Given the description of an element on the screen output the (x, y) to click on. 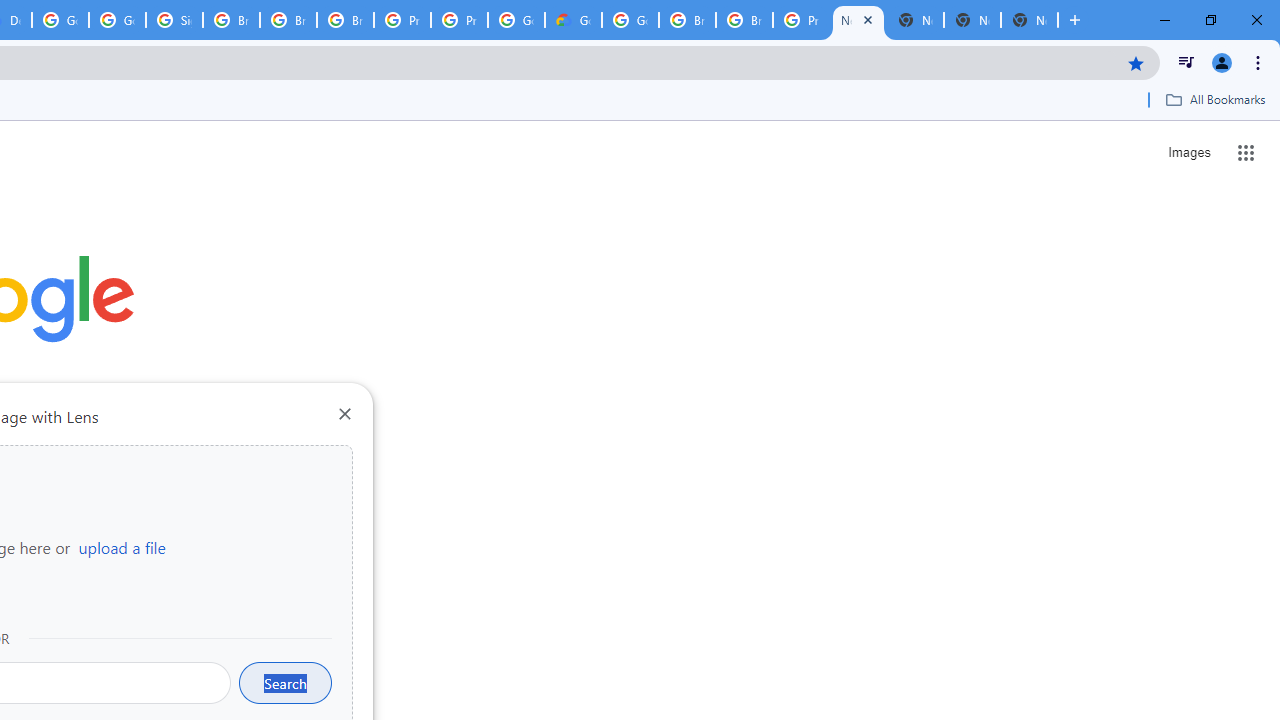
New Tab (858, 20)
Google Cloud Estimate Summary (573, 20)
Browse Chrome as a guest - Computer - Google Chrome Help (231, 20)
New Tab (1029, 20)
Google Cloud Platform (516, 20)
Browse Chrome as a guest - Computer - Google Chrome Help (687, 20)
